Given the description of an element on the screen output the (x, y) to click on. 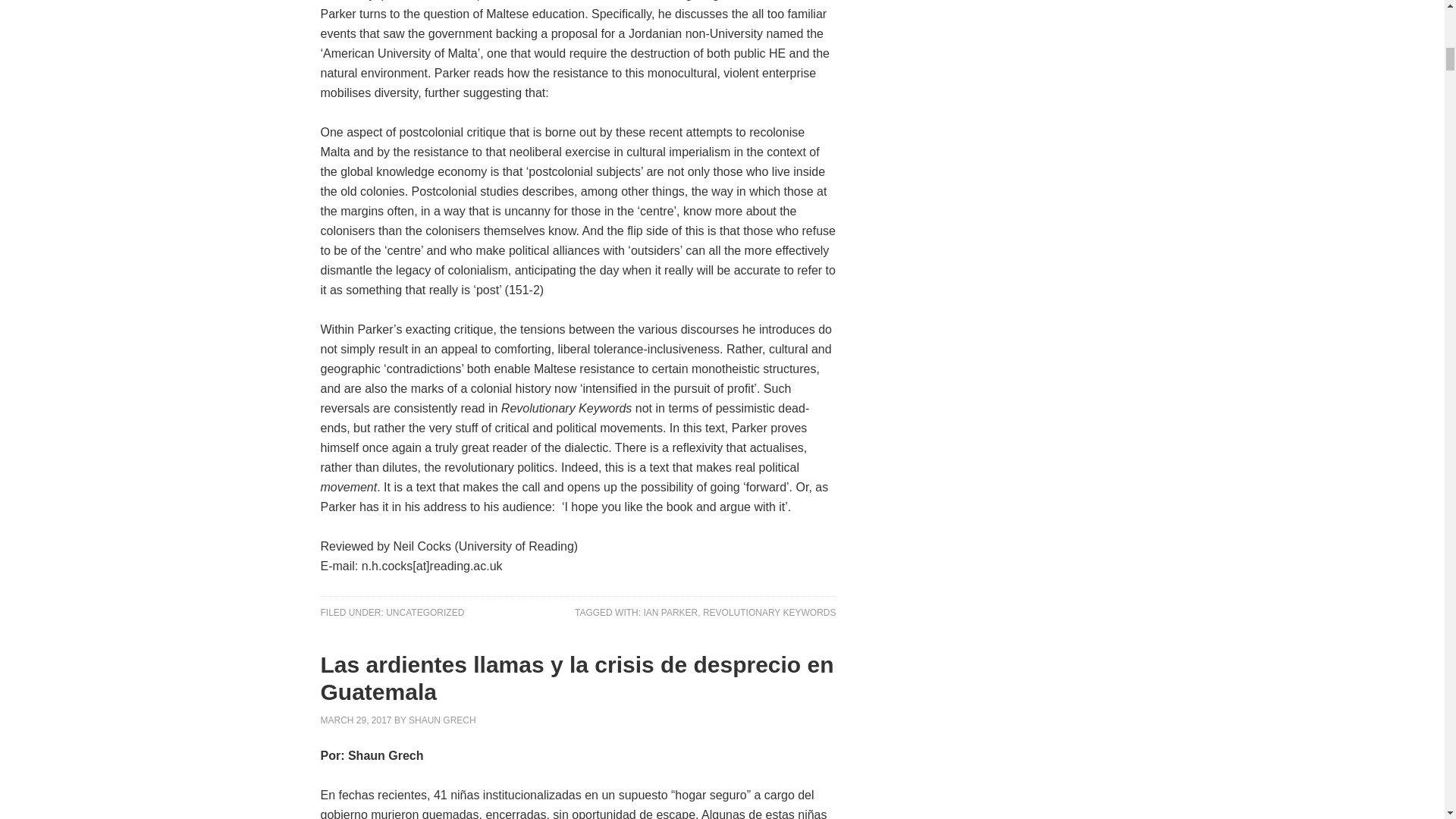
REVOLUTIONARY KEYWORDS (769, 612)
IAN PARKER (670, 612)
Las ardientes llamas y la crisis de desprecio en Guatemala (576, 677)
SHAUN GRECH (442, 719)
UNCATEGORIZED (424, 612)
